Given the description of an element on the screen output the (x, y) to click on. 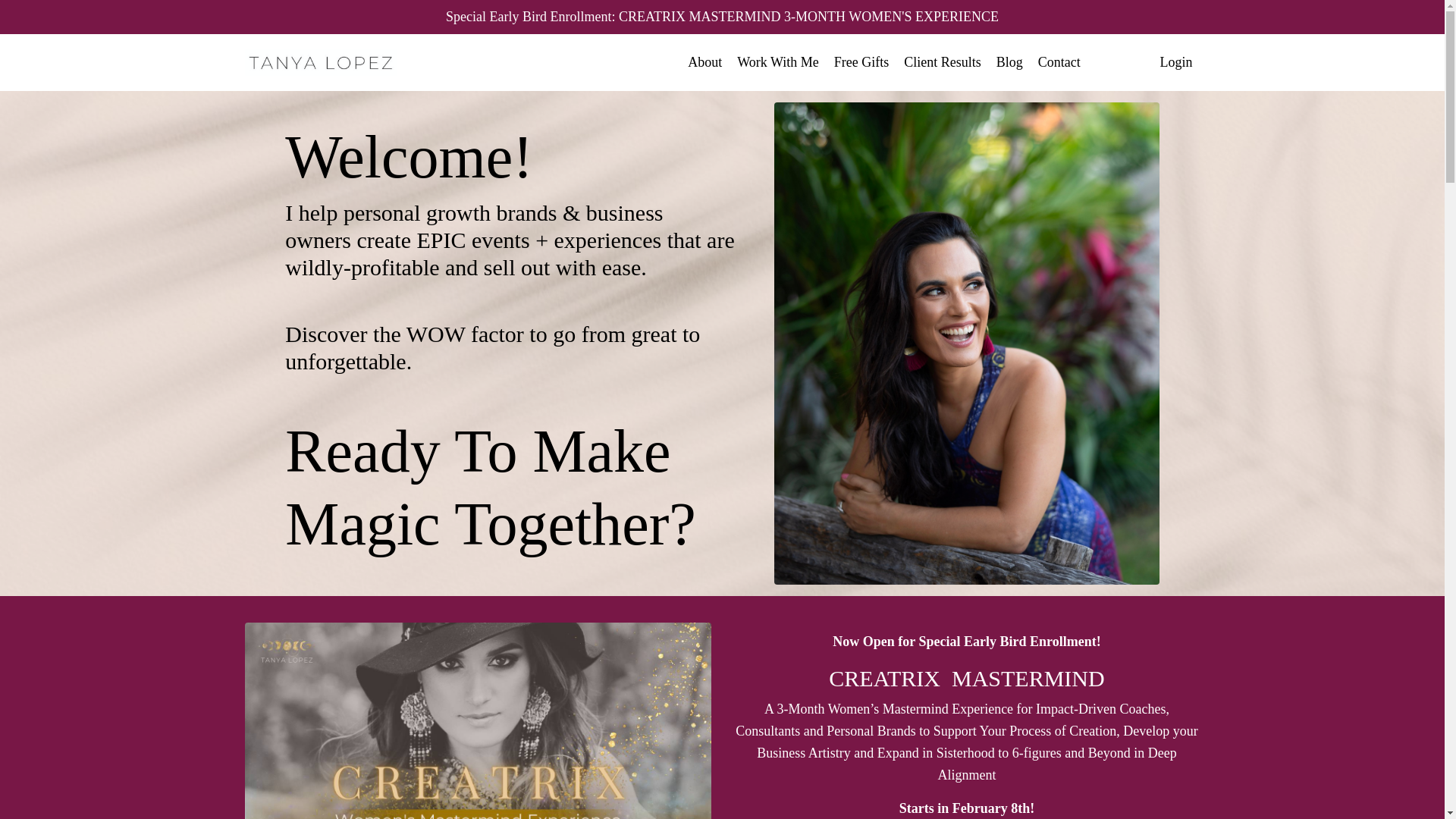
Contact (1059, 62)
Work With Me (777, 62)
Blog (1009, 62)
Login (1176, 61)
Client Results (942, 62)
Free Gifts (861, 62)
About (704, 62)
